Given the description of an element on the screen output the (x, y) to click on. 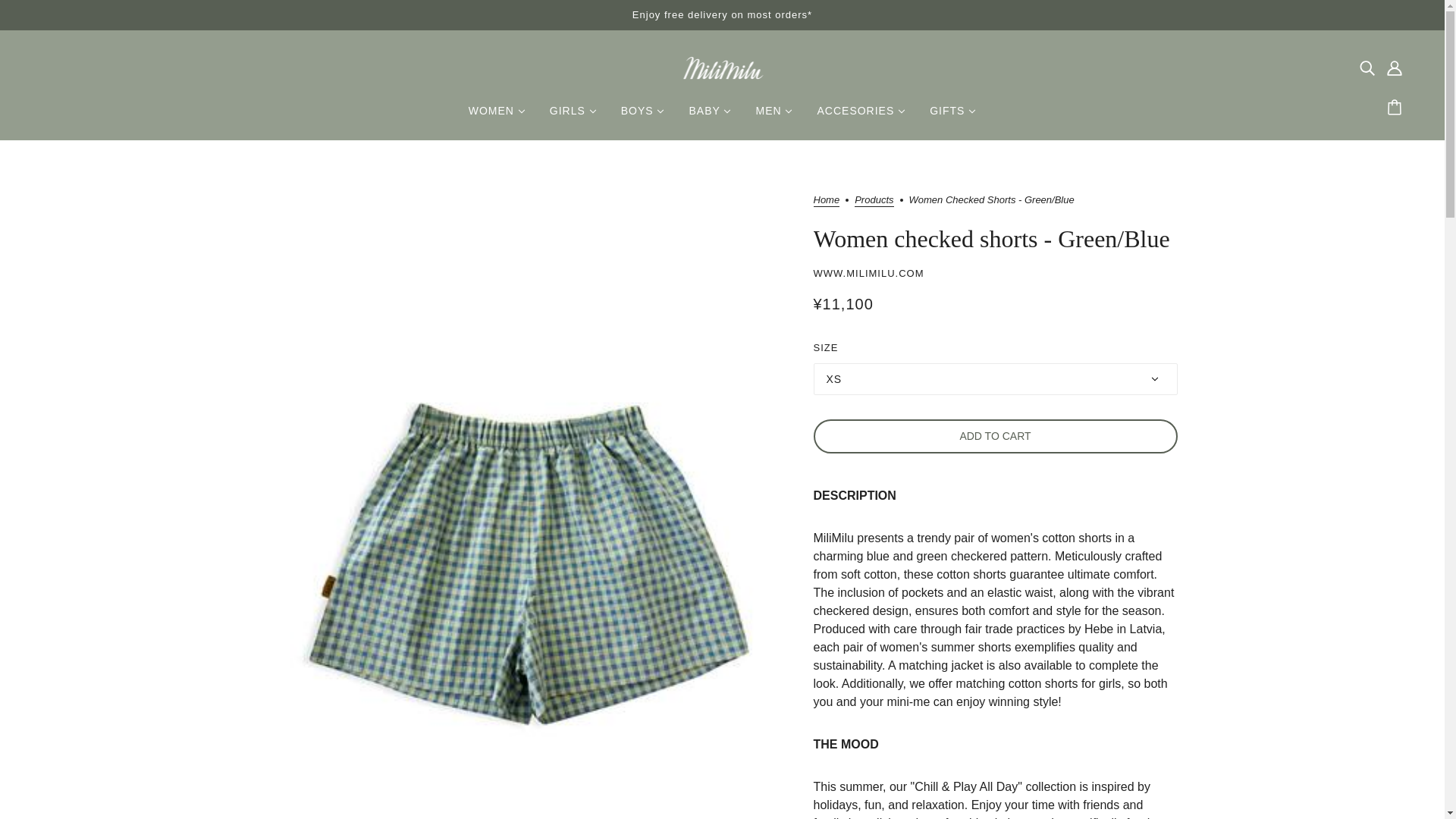
BOYS (642, 116)
WOMEN (497, 116)
BABY (709, 116)
ACCESORIES (861, 116)
MEN (773, 116)
Milimilu.com (721, 67)
GIRLS (572, 116)
